Given the description of an element on the screen output the (x, y) to click on. 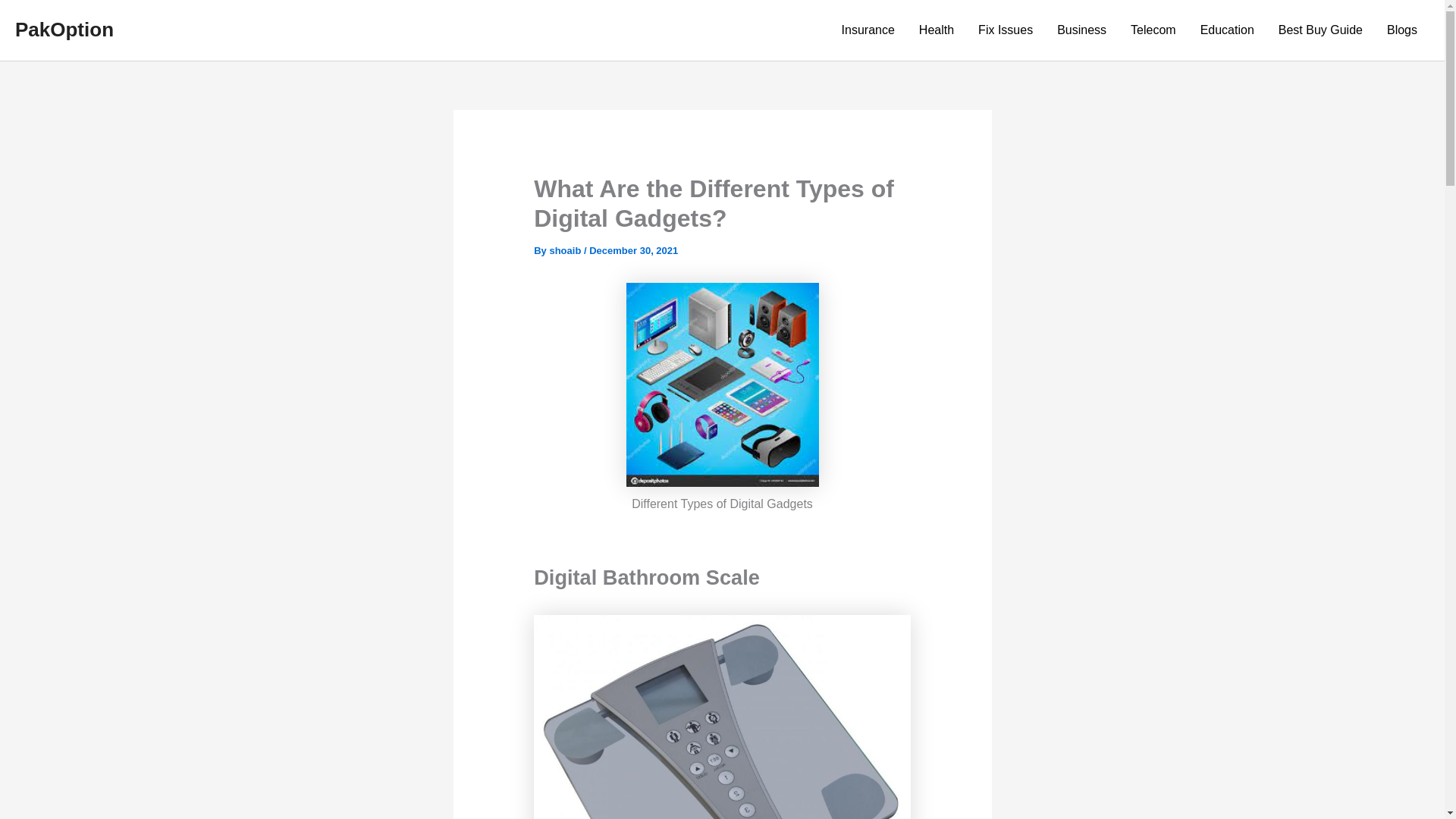
Health (936, 30)
PakOption (63, 29)
Blogs (1401, 30)
Insurance (868, 30)
shoaib (565, 250)
Education (1227, 30)
Telecom (1153, 30)
Business (1081, 30)
View all posts by shoaib (565, 250)
Fix Issues (1005, 30)
